Given the description of an element on the screen output the (x, y) to click on. 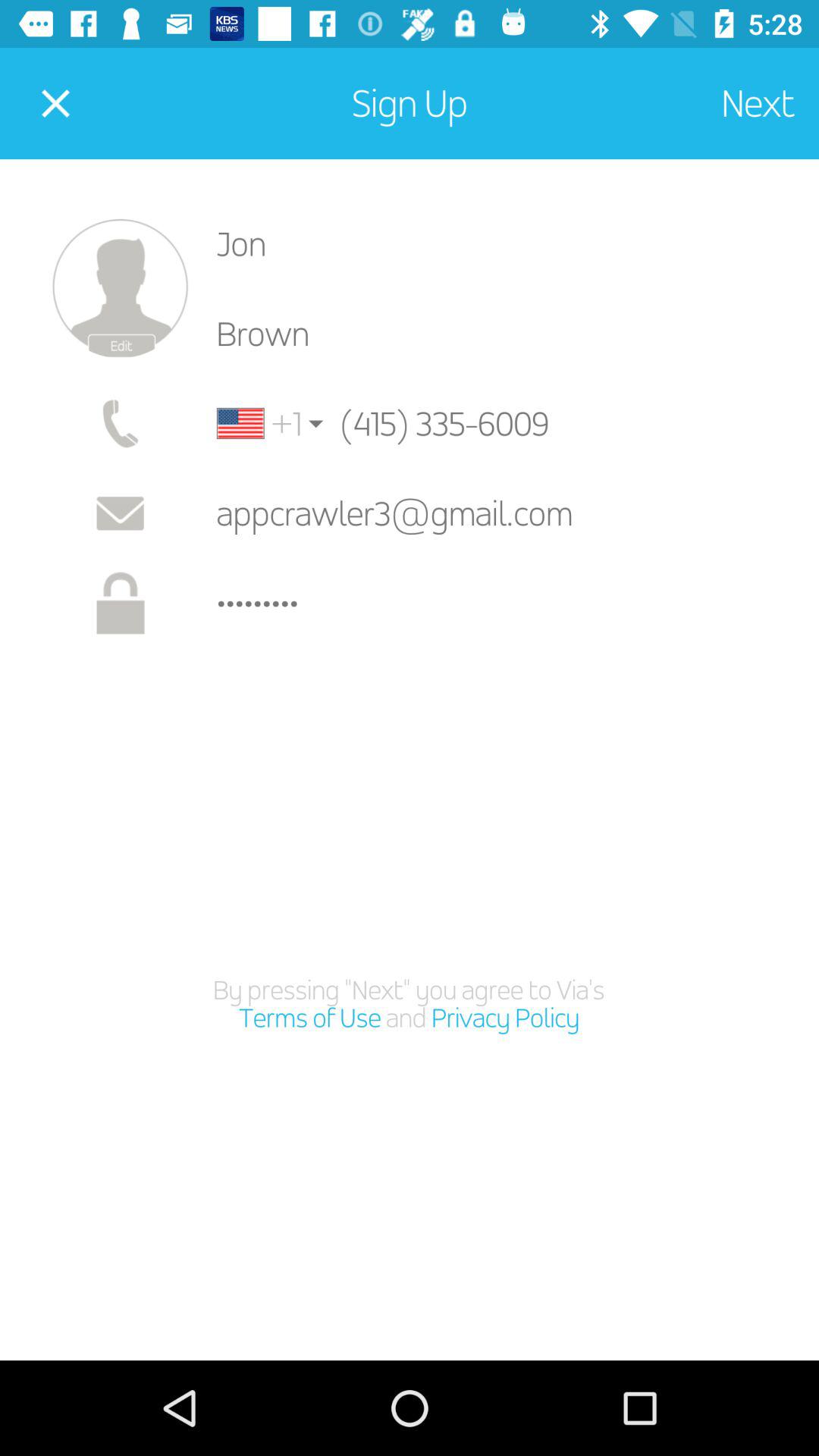
open the +1 icon (259, 423)
